Given the description of an element on the screen output the (x, y) to click on. 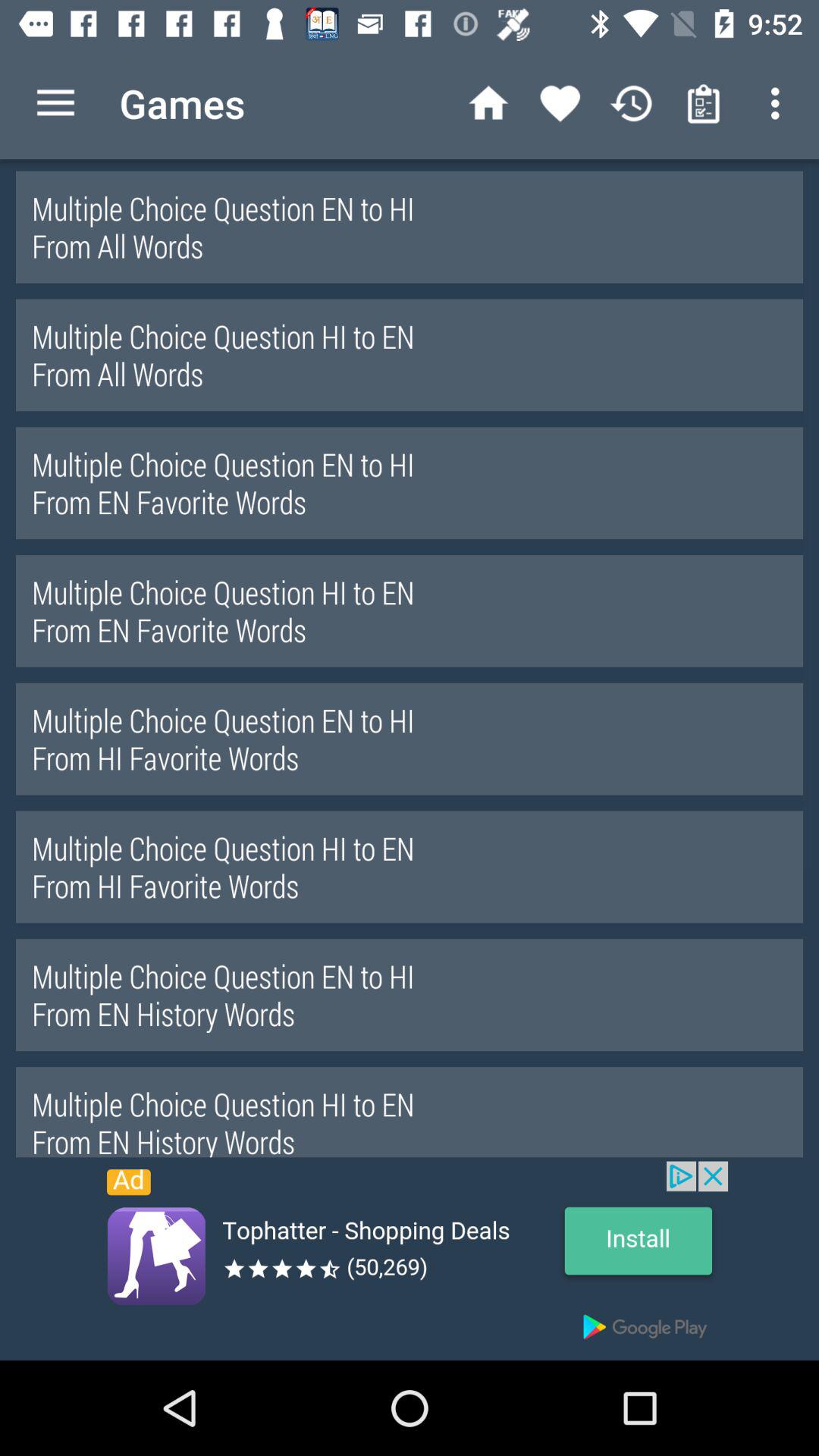
install the option (409, 1260)
